Given the description of an element on the screen output the (x, y) to click on. 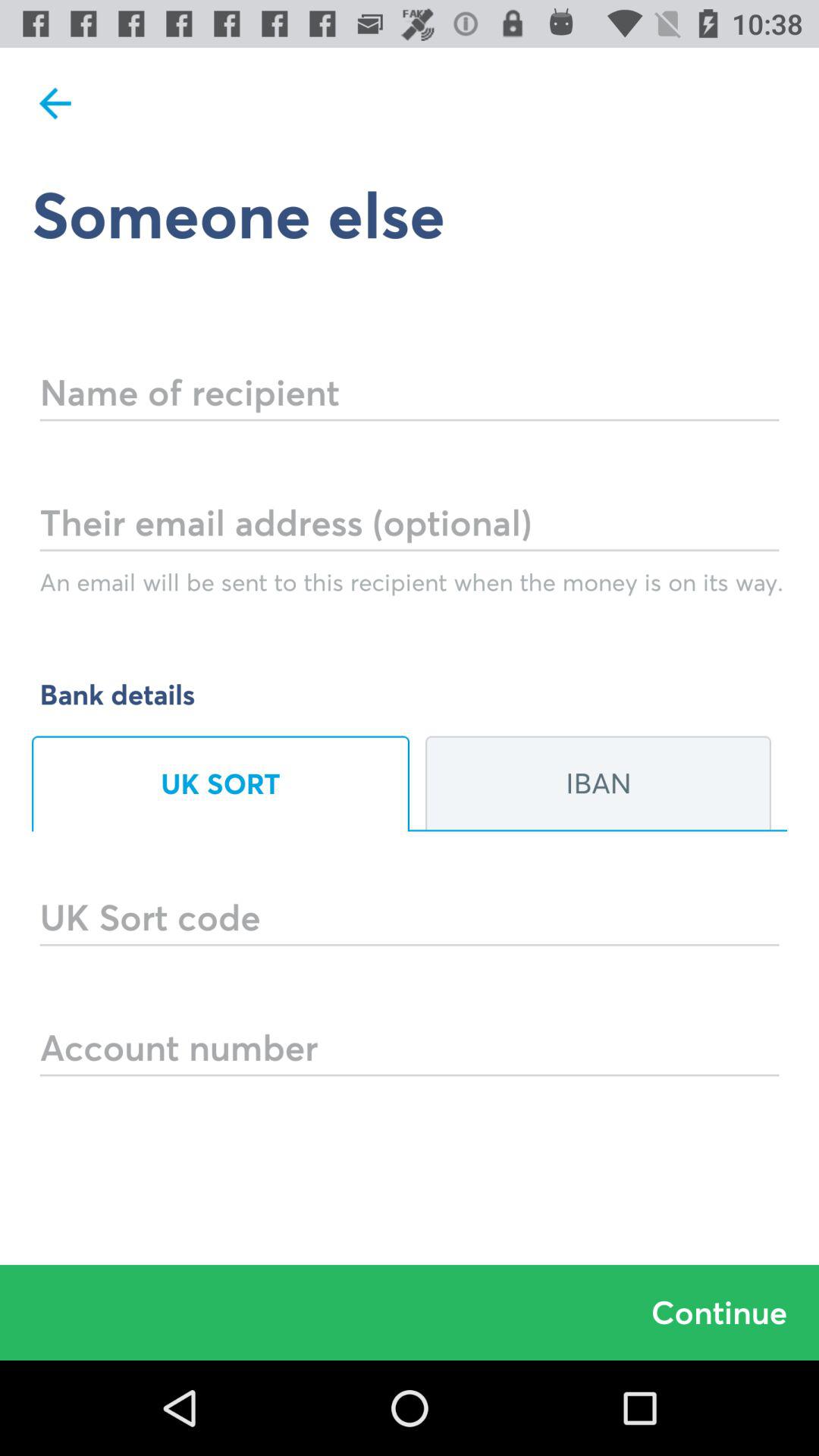
click icon to the right of uk sort (598, 783)
